Given the description of an element on the screen output the (x, y) to click on. 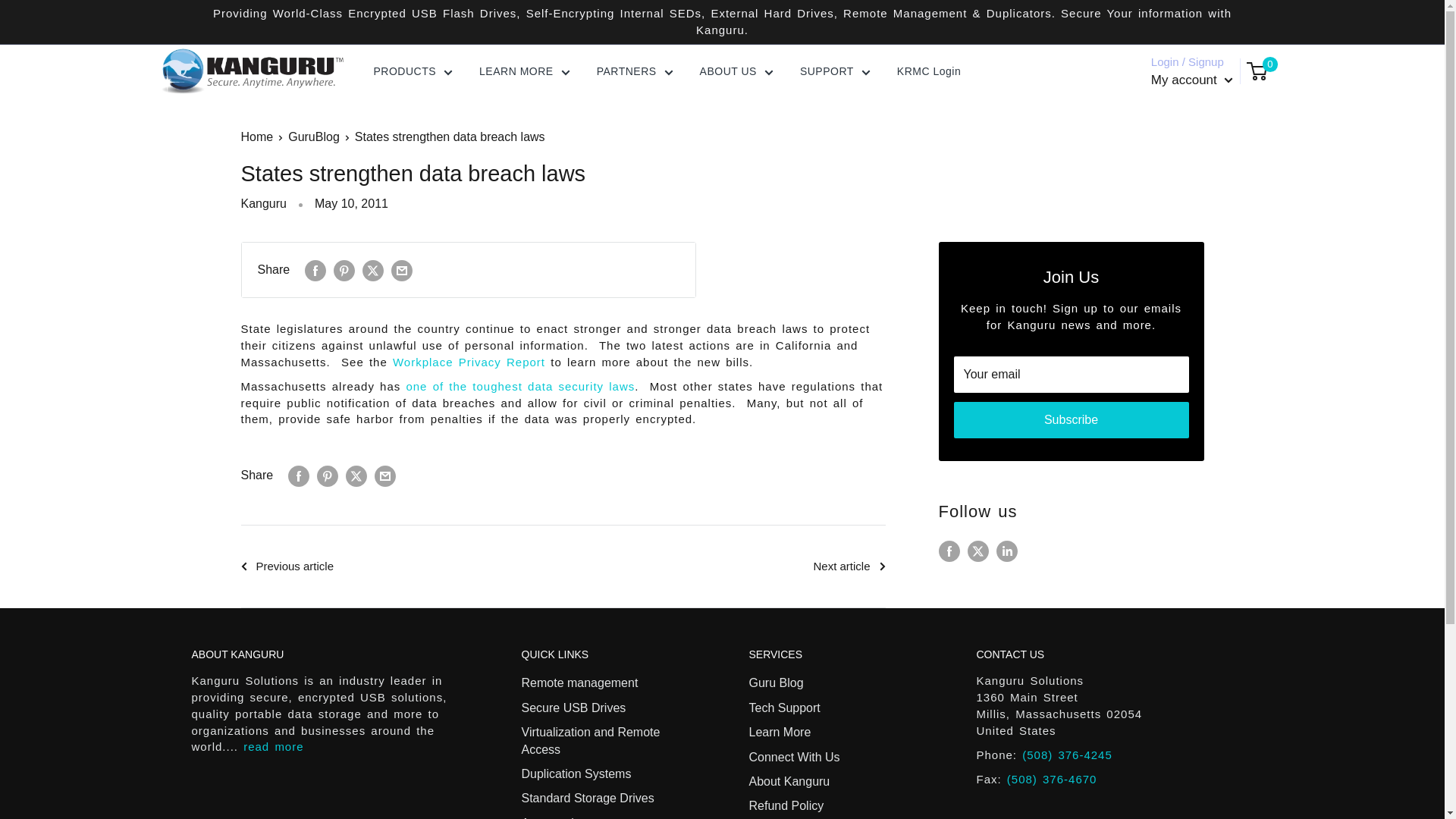
Jackson Lewis (468, 361)
Kanguru blog (520, 386)
tel:5083764245 (1067, 754)
About Us (272, 746)
tel:5083764670 (1052, 779)
